Given the description of an element on the screen output the (x, y) to click on. 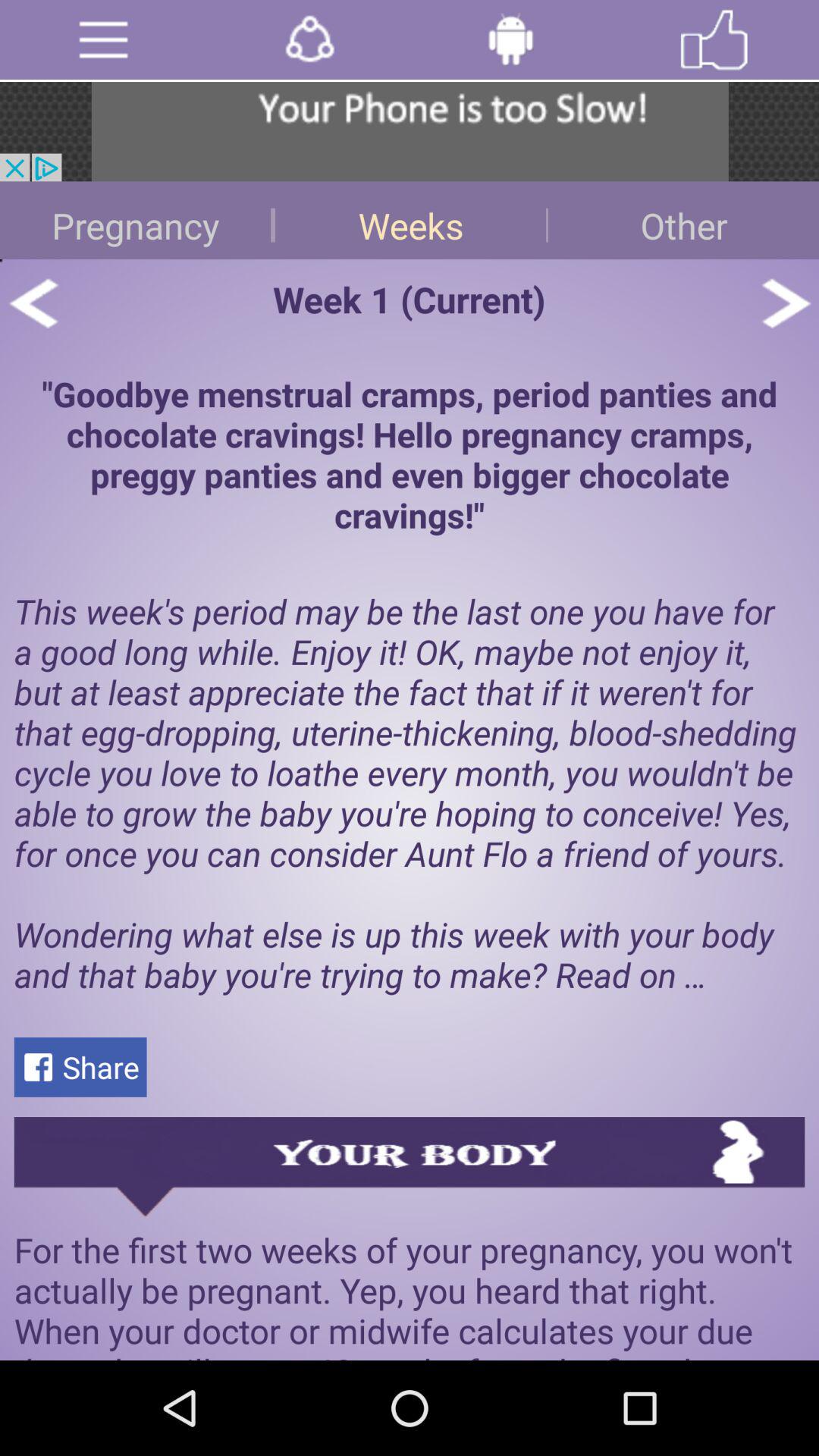
android app (510, 39)
